Given the description of an element on the screen output the (x, y) to click on. 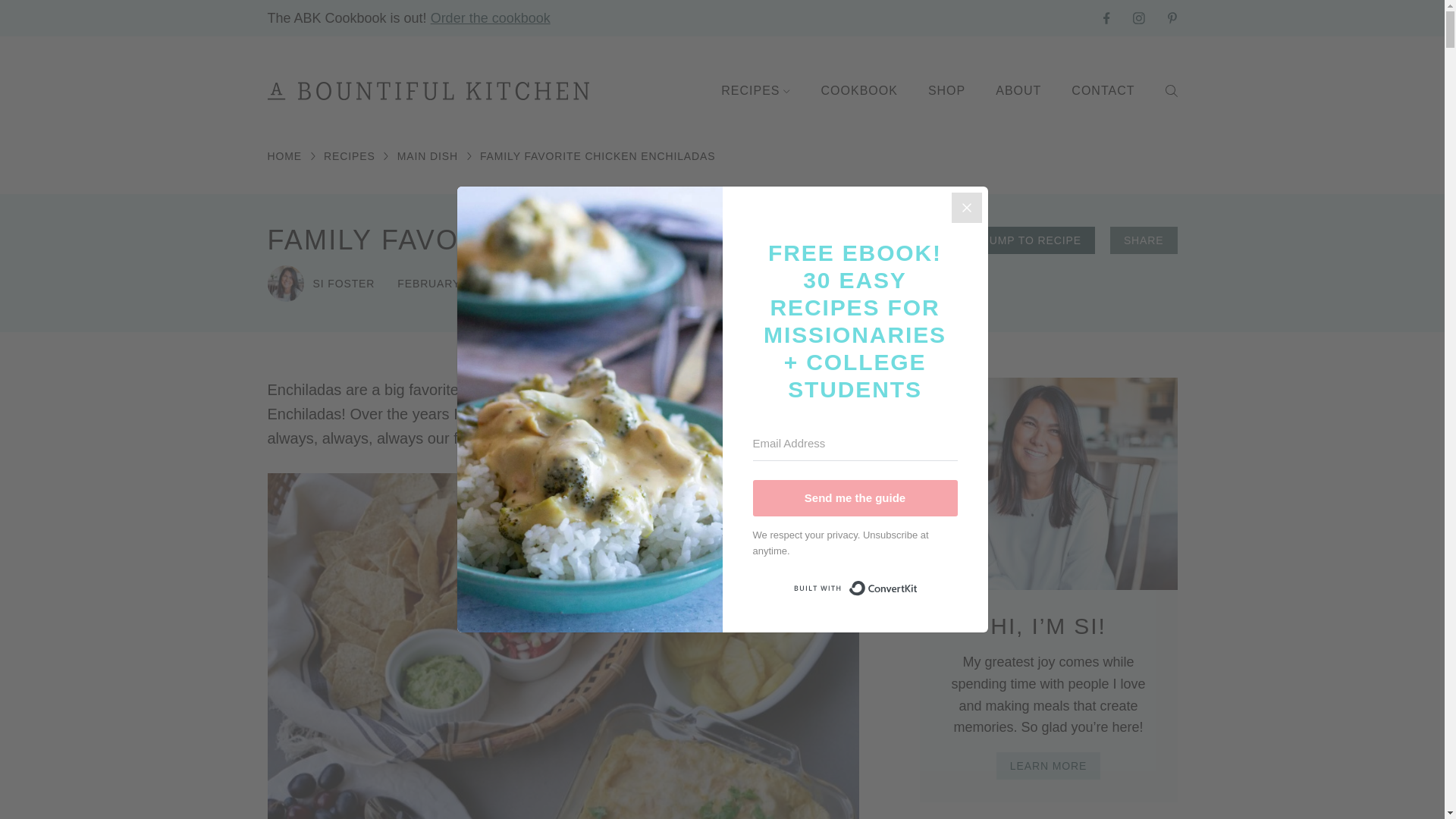
Order the cookbook (490, 17)
Pinterest (1172, 18)
Pinterest (1172, 17)
Instagram (1139, 18)
Facebook (1107, 17)
Instagram (1139, 17)
Facebook (1107, 18)
RECIPES (755, 90)
